Given the description of an element on the screen output the (x, y) to click on. 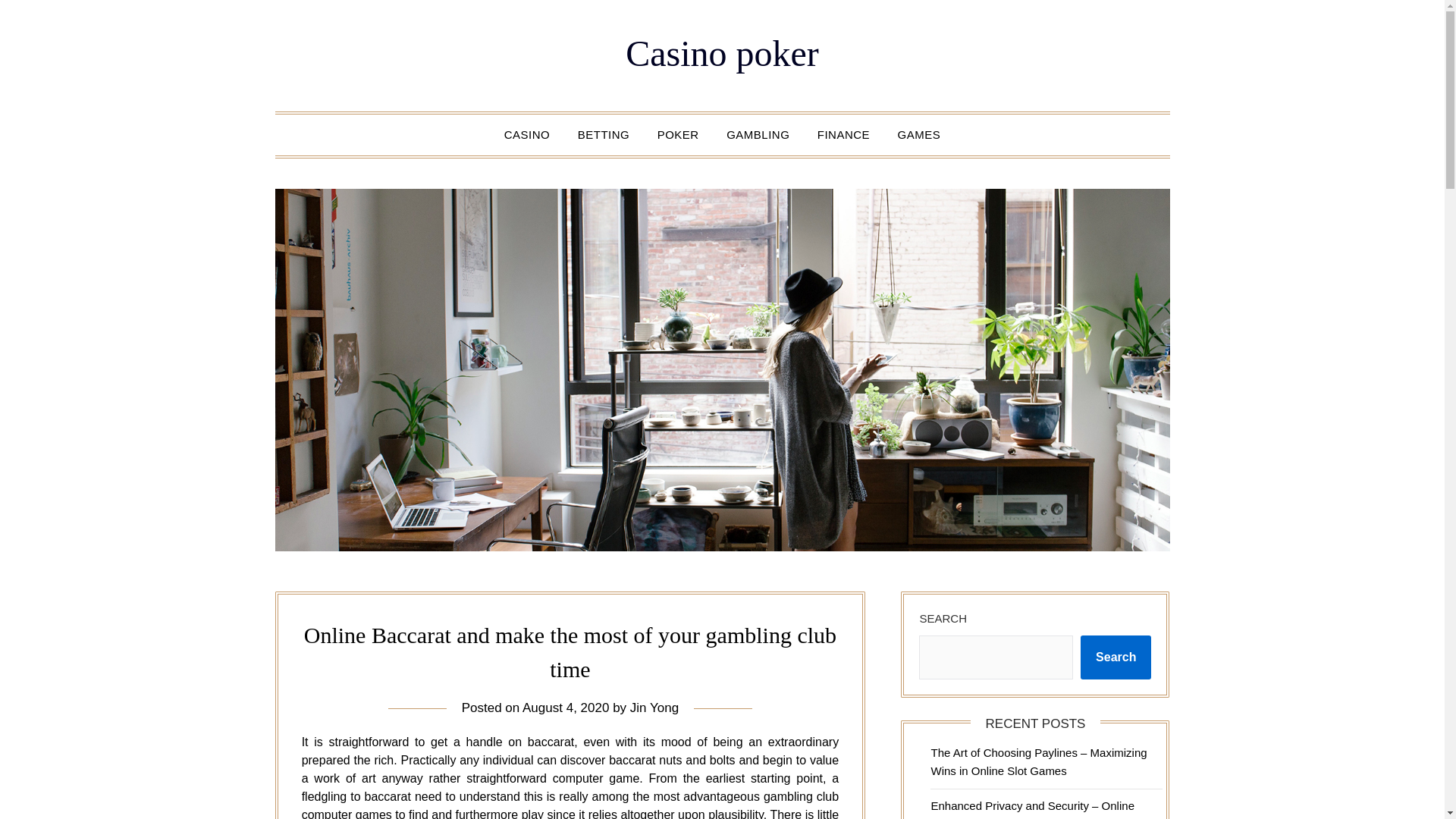
Search (1115, 657)
Casino poker (722, 53)
BETTING (604, 134)
GAMES (919, 134)
CASINO (527, 134)
FINANCE (843, 134)
GAMBLING (758, 134)
Jin Yong (654, 707)
POKER (678, 134)
August 4, 2020 (565, 707)
